Given the description of an element on the screen output the (x, y) to click on. 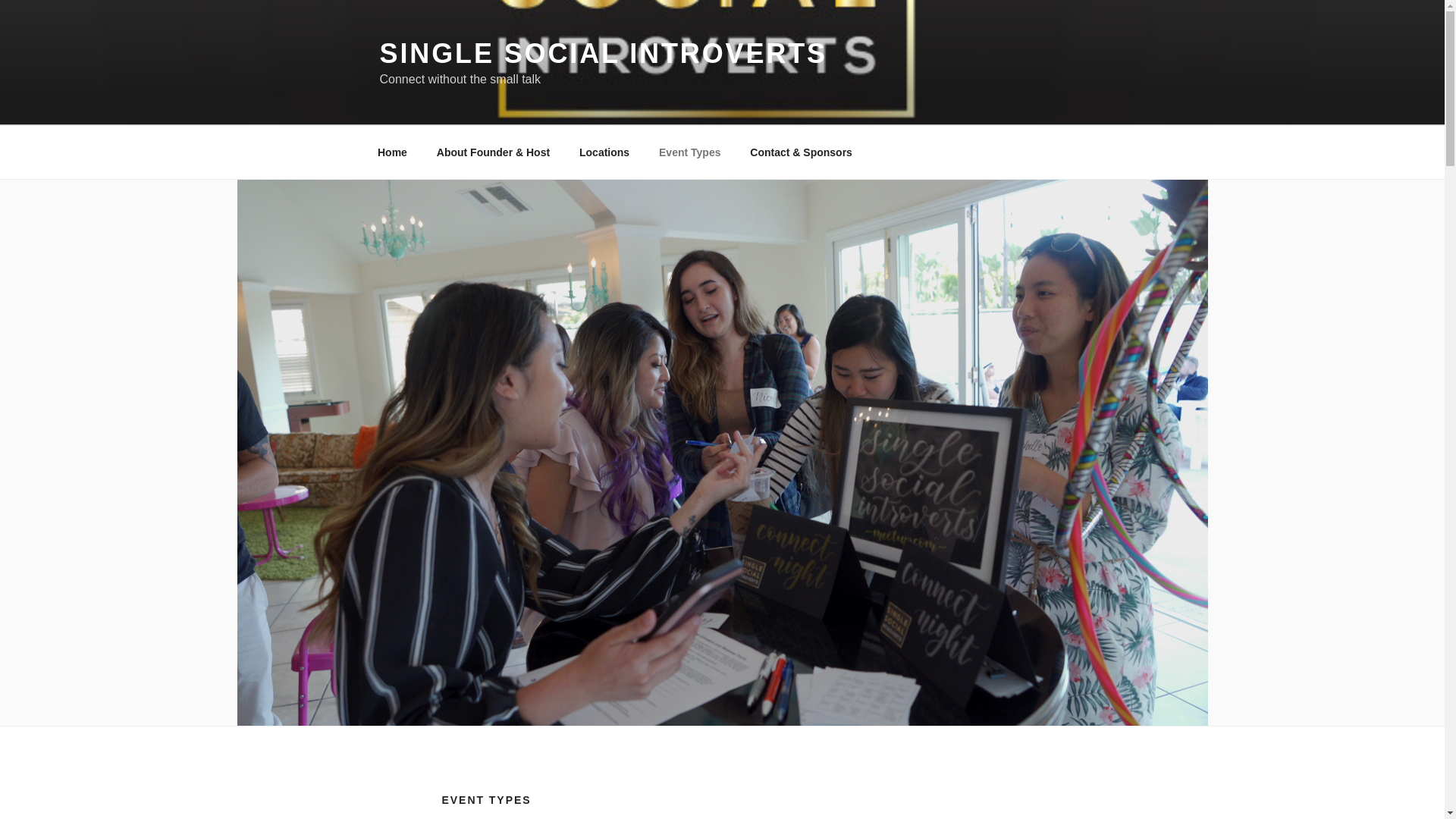
Event Types (689, 151)
SINGLE SOCIAL INTROVERTS (602, 52)
Locations (604, 151)
Home (392, 151)
